Given the description of an element on the screen output the (x, y) to click on. 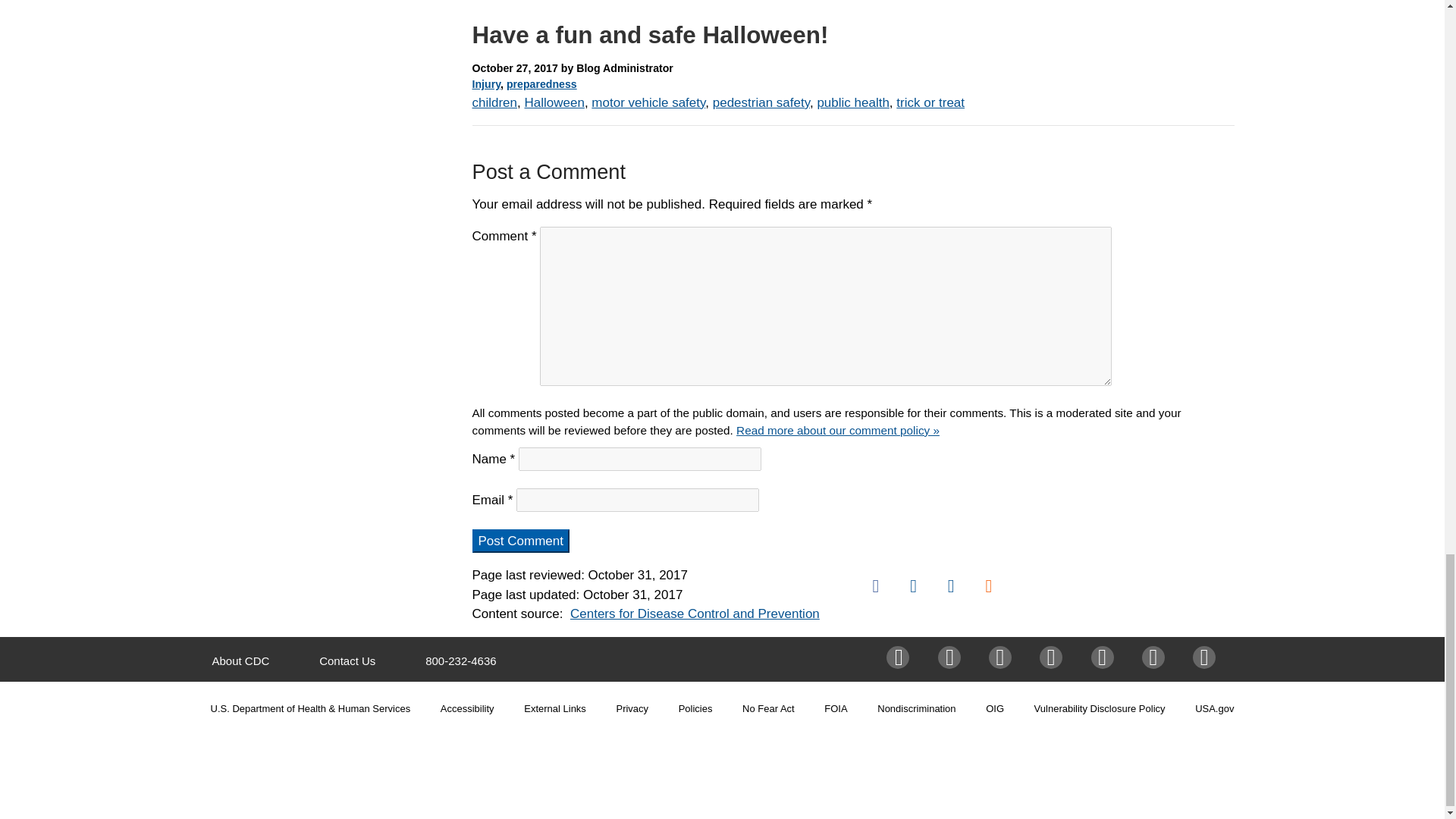
Centers for Disease Control and Prevention (694, 613)
public health (852, 102)
trick or treat (929, 102)
pedestrian safety (761, 102)
Post Comment (520, 541)
preparedness (541, 83)
children (493, 102)
motor vehicle safety (647, 102)
Injury (485, 83)
Halloween (554, 102)
Post Comment (520, 541)
